Given the description of an element on the screen output the (x, y) to click on. 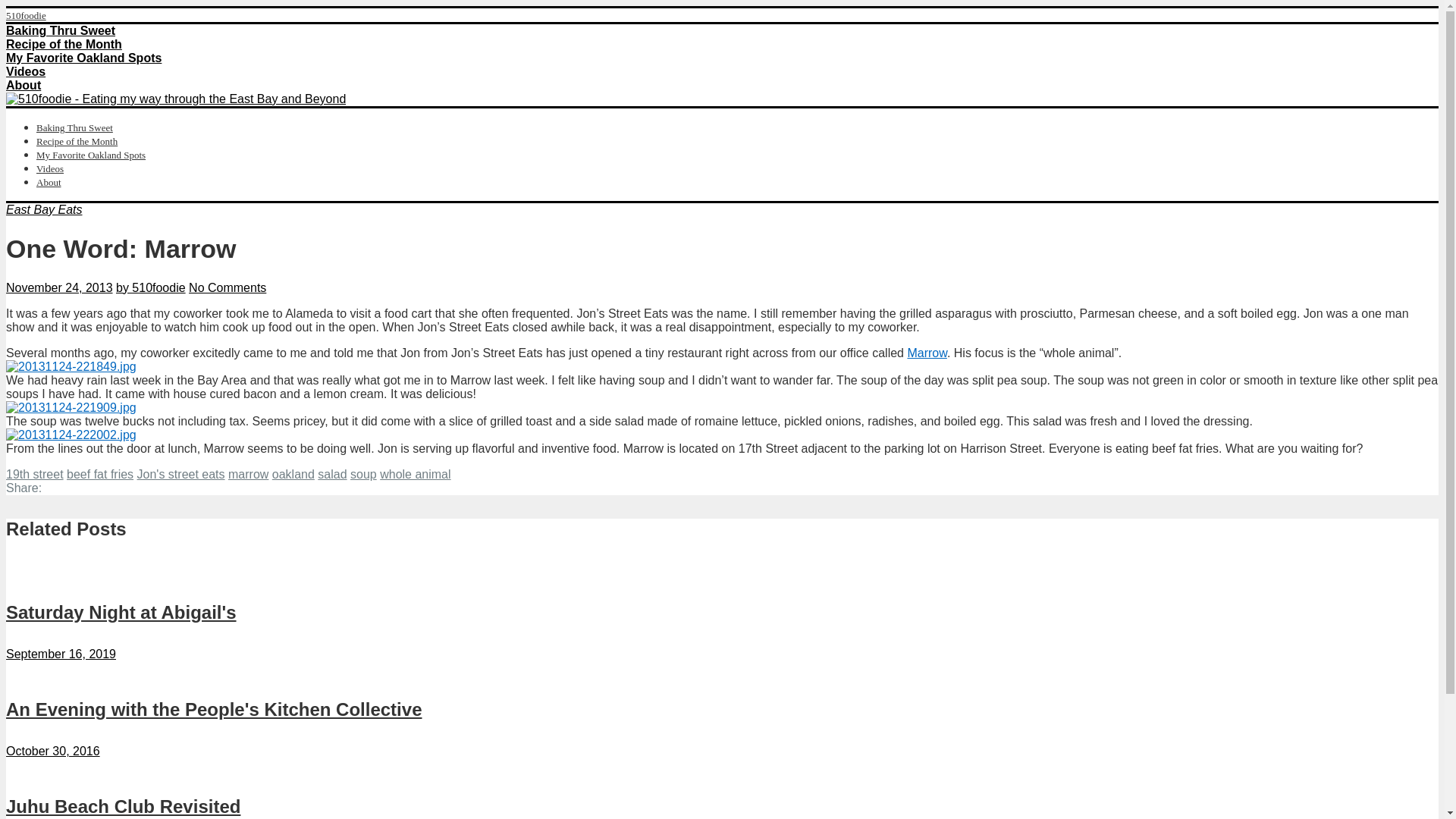
whole animal (414, 473)
No Comments (227, 287)
Videos (25, 71)
Recipe of the Month (63, 43)
Videos (50, 168)
November 24, 2013 (59, 287)
marrow (247, 473)
Jon's street eats (180, 473)
My Favorite Oakland Spots (90, 154)
Saturday Night at Abigail's (120, 611)
About (22, 84)
Permanent (122, 806)
An Evening with the People's Kitchen Collective (213, 709)
Baking Thru Sweet (60, 30)
September 16, 2019 (60, 653)
